Given the description of an element on the screen output the (x, y) to click on. 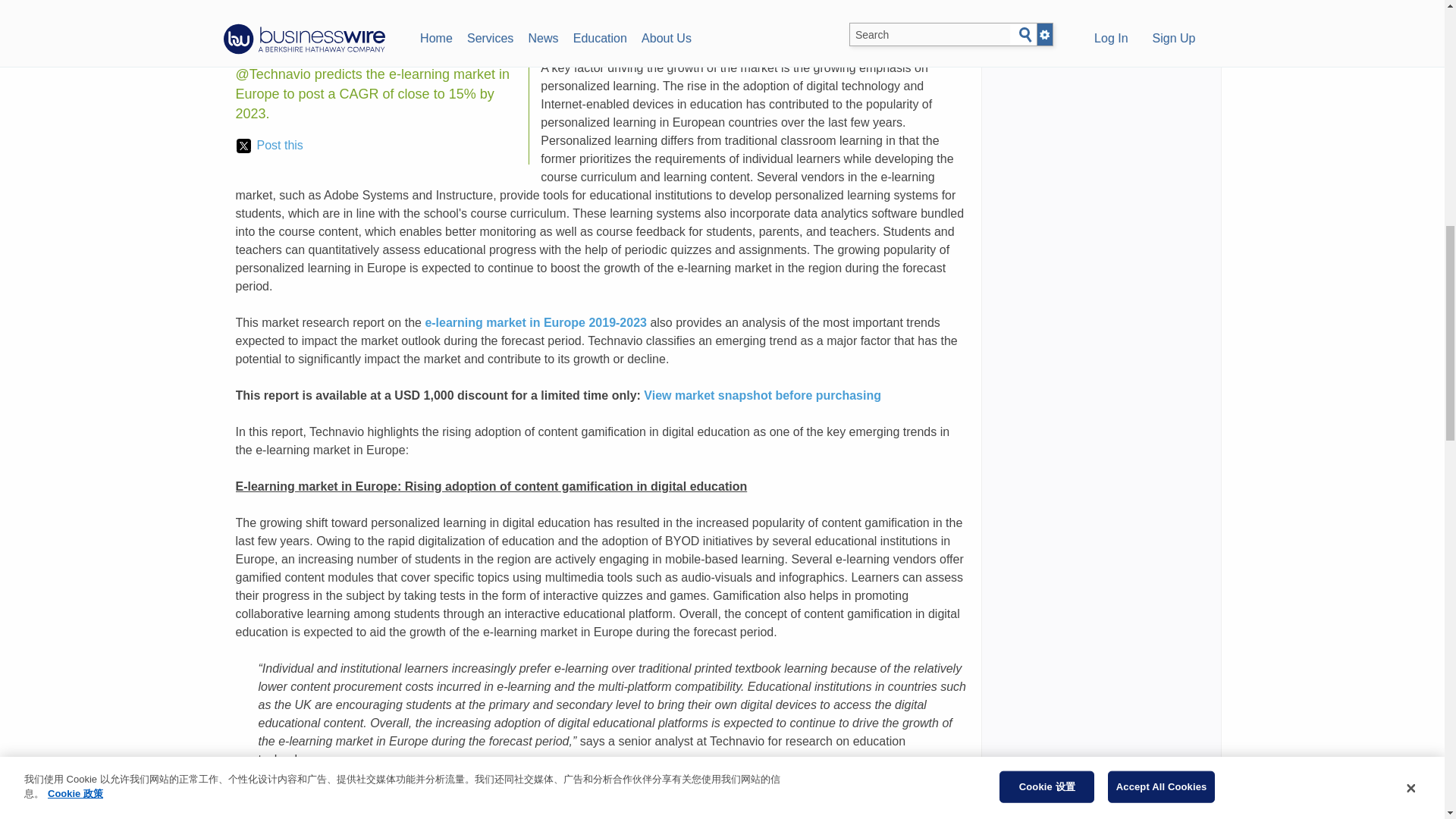
Post this (269, 145)
BUSINESS WIRE (347, 12)
View market snapshot before purchasing (761, 395)
e-learning market in Europe 2019-2023 (535, 322)
Technavio. (564, 31)
